Given the description of an element on the screen output the (x, y) to click on. 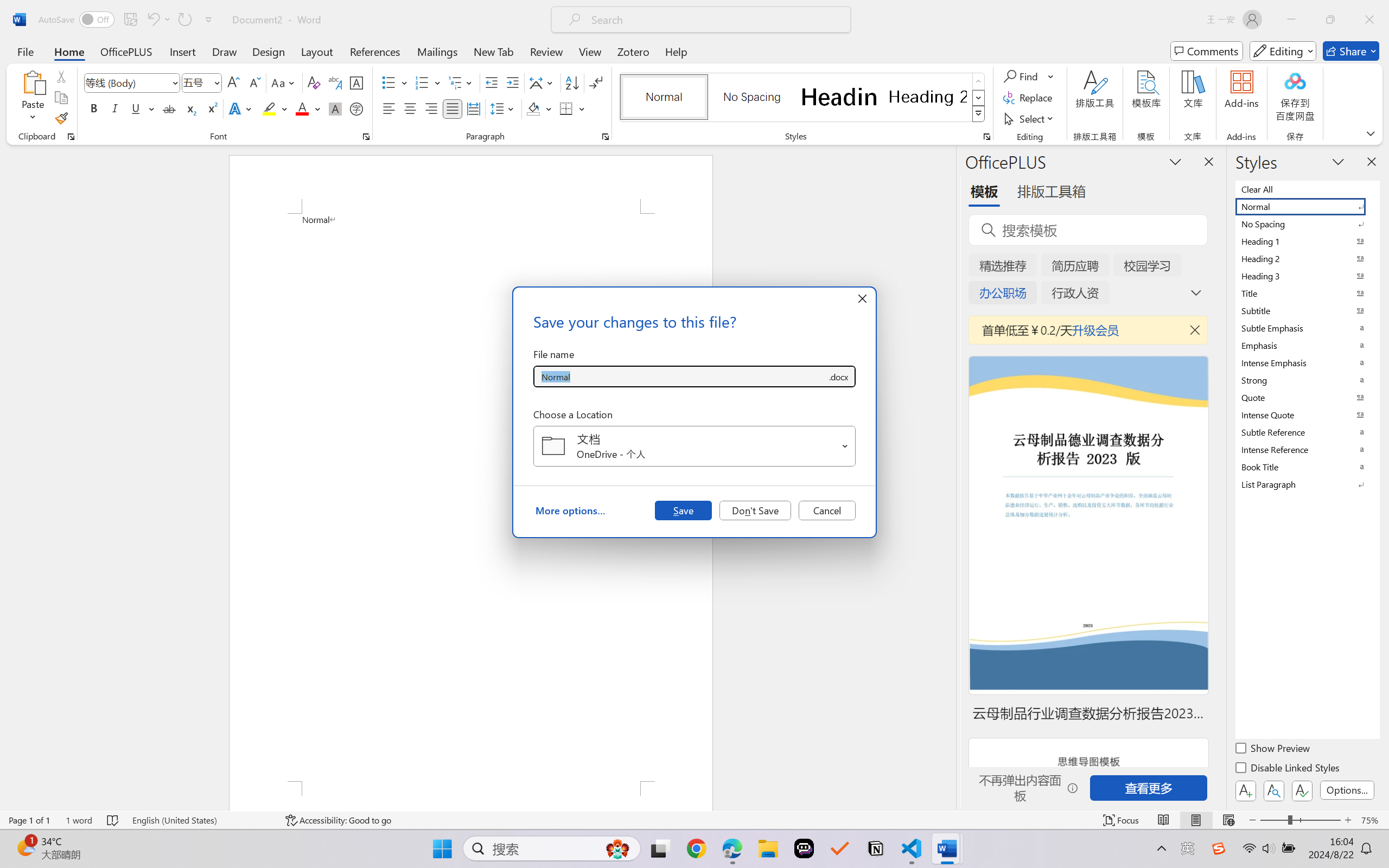
Shading RGB(0, 0, 0) (533, 108)
Find (1022, 75)
Book Title (1306, 466)
Enclose Characters... (356, 108)
Cut (60, 75)
Superscript (210, 108)
Customize Quick Access Toolbar (208, 19)
Intense Reference (1306, 449)
Intense Emphasis (1306, 362)
Find (1029, 75)
